Given the description of an element on the screen output the (x, y) to click on. 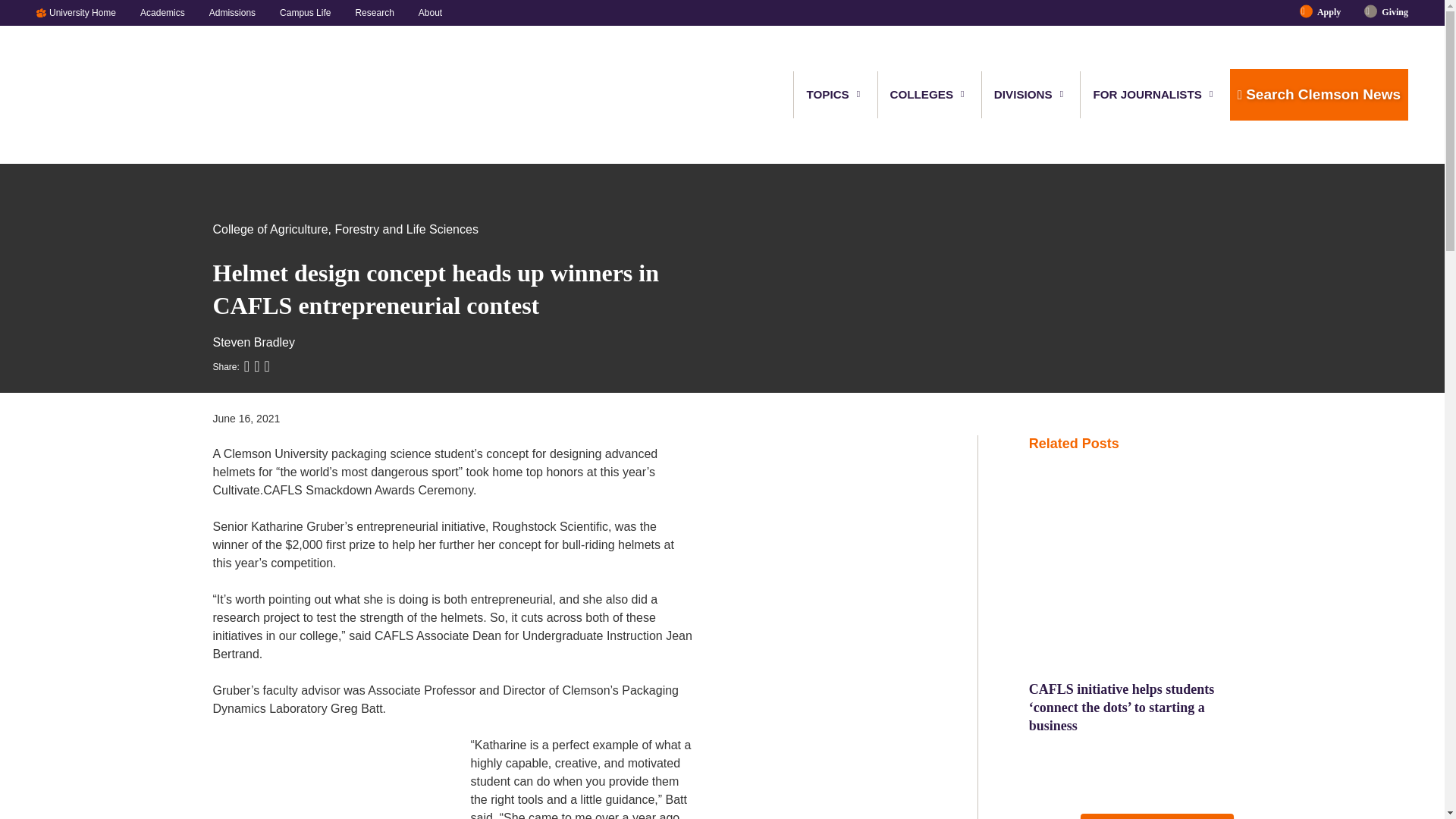
University Home (88, 12)
Academics (162, 12)
Apply (1328, 11)
Posts by Steven Bradley (253, 341)
Clemson News (114, 94)
About (424, 12)
Admissions (231, 12)
TOPICS (828, 94)
Giving (1388, 11)
Campus Life (304, 12)
